Given the description of an element on the screen output the (x, y) to click on. 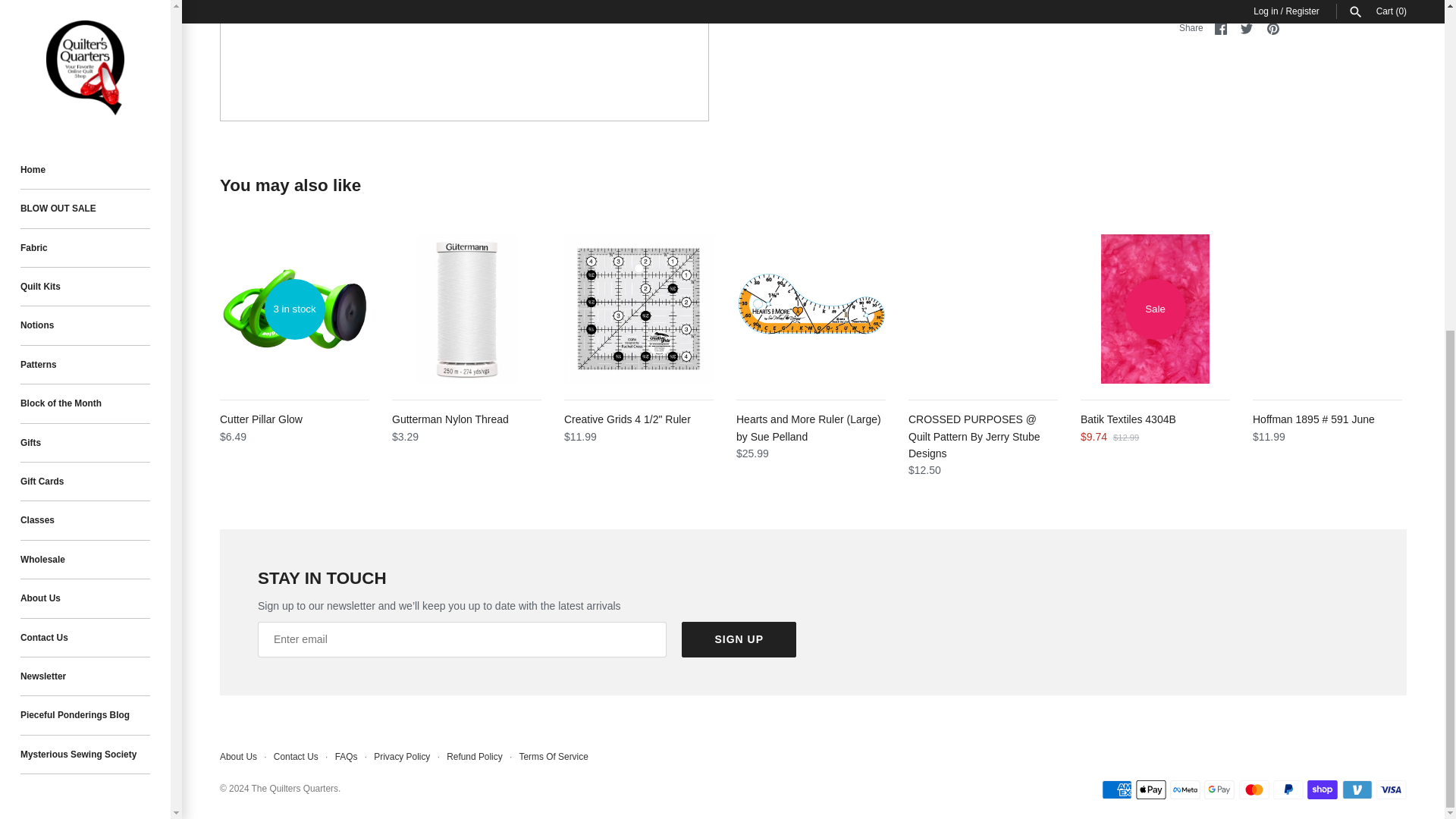
About Us (84, 50)
Gutterman Nylon Thread (466, 309)
Twitter (1246, 28)
American Express (1115, 789)
Apple Pay (1150, 789)
Google Pay (1219, 789)
Contact Us (84, 89)
Mastercard (1254, 789)
Shop Pay (1322, 789)
PayPal (1287, 789)
